Given the description of an element on the screen output the (x, y) to click on. 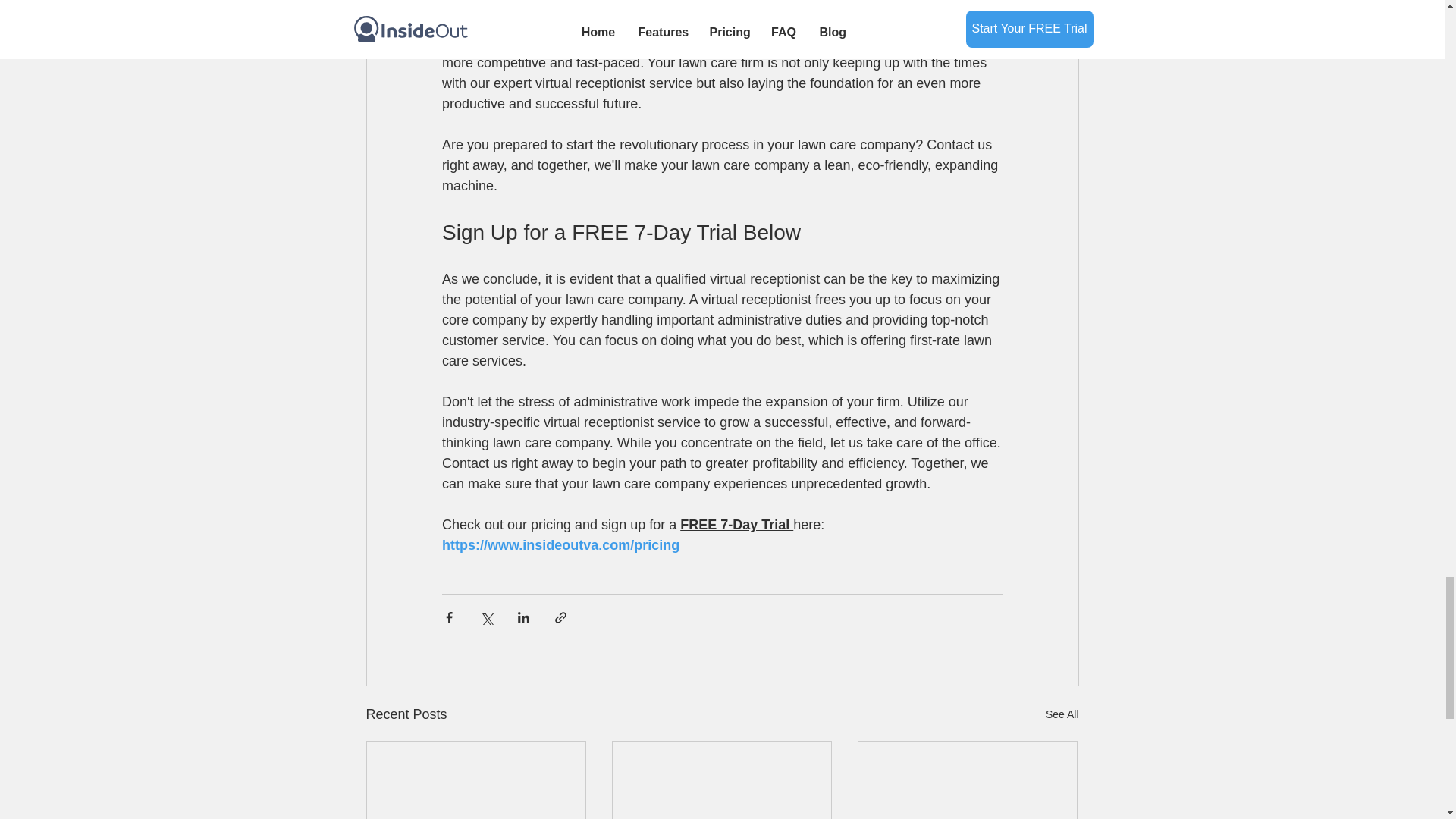
See All (1061, 714)
